Given the description of an element on the screen output the (x, y) to click on. 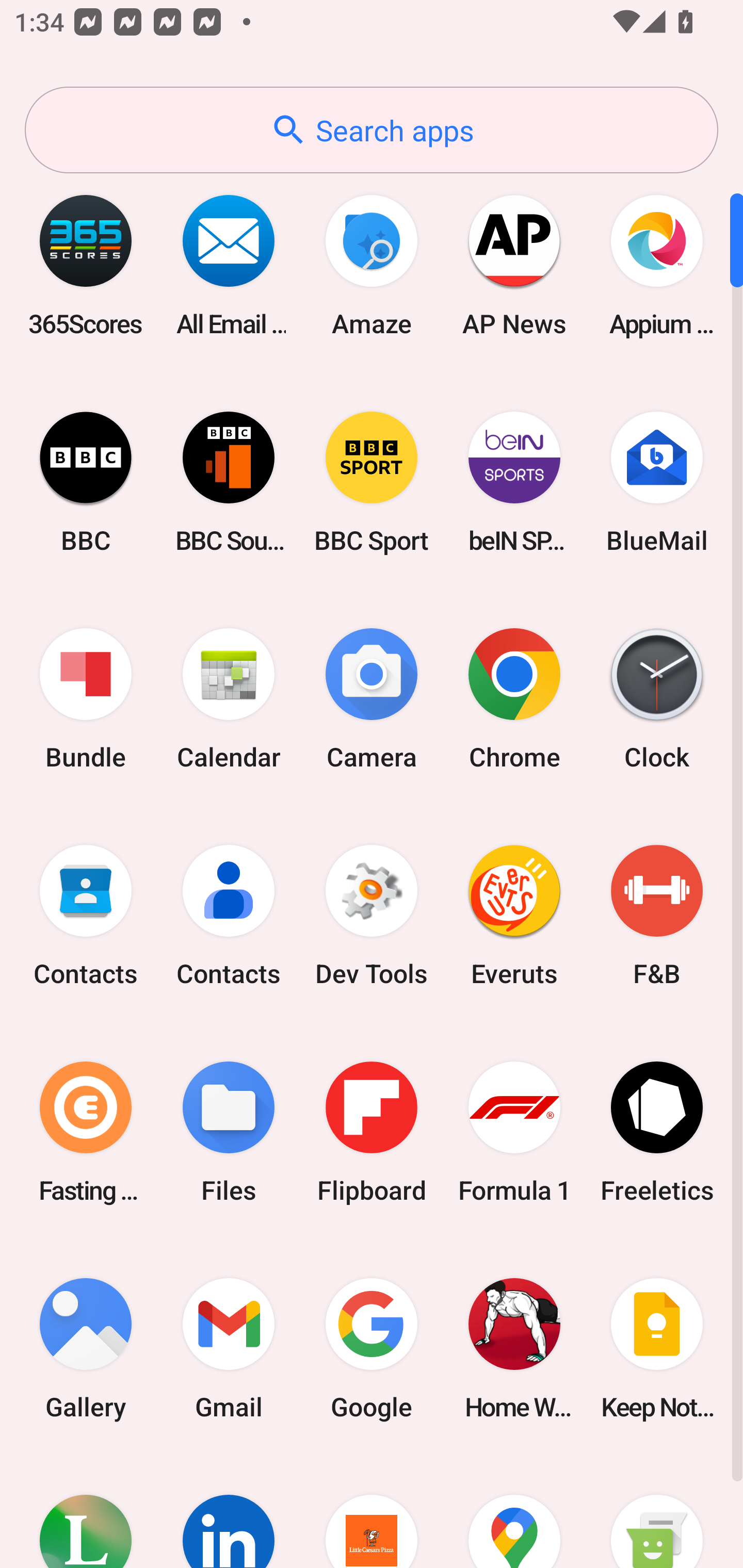
  Search apps (371, 130)
365Scores (85, 264)
All Email Connect (228, 264)
Amaze (371, 264)
AP News (514, 264)
Appium Settings (656, 264)
BBC (85, 482)
BBC Sounds (228, 482)
BBC Sport (371, 482)
beIN SPORTS (514, 482)
BlueMail (656, 482)
Bundle (85, 699)
Calendar (228, 699)
Camera (371, 699)
Chrome (514, 699)
Clock (656, 699)
Contacts (85, 915)
Contacts (228, 915)
Dev Tools (371, 915)
Everuts (514, 915)
F&B (656, 915)
Fasting Coach (85, 1131)
Files (228, 1131)
Flipboard (371, 1131)
Formula 1 (514, 1131)
Freeletics (656, 1131)
Gallery (85, 1348)
Gmail (228, 1348)
Google (371, 1348)
Home Workout (514, 1348)
Keep Notes (656, 1348)
Lifesum (85, 1512)
LinkedIn (228, 1512)
Little Caesars Pizza (371, 1512)
Maps (514, 1512)
Messaging (656, 1512)
